Given the description of an element on the screen output the (x, y) to click on. 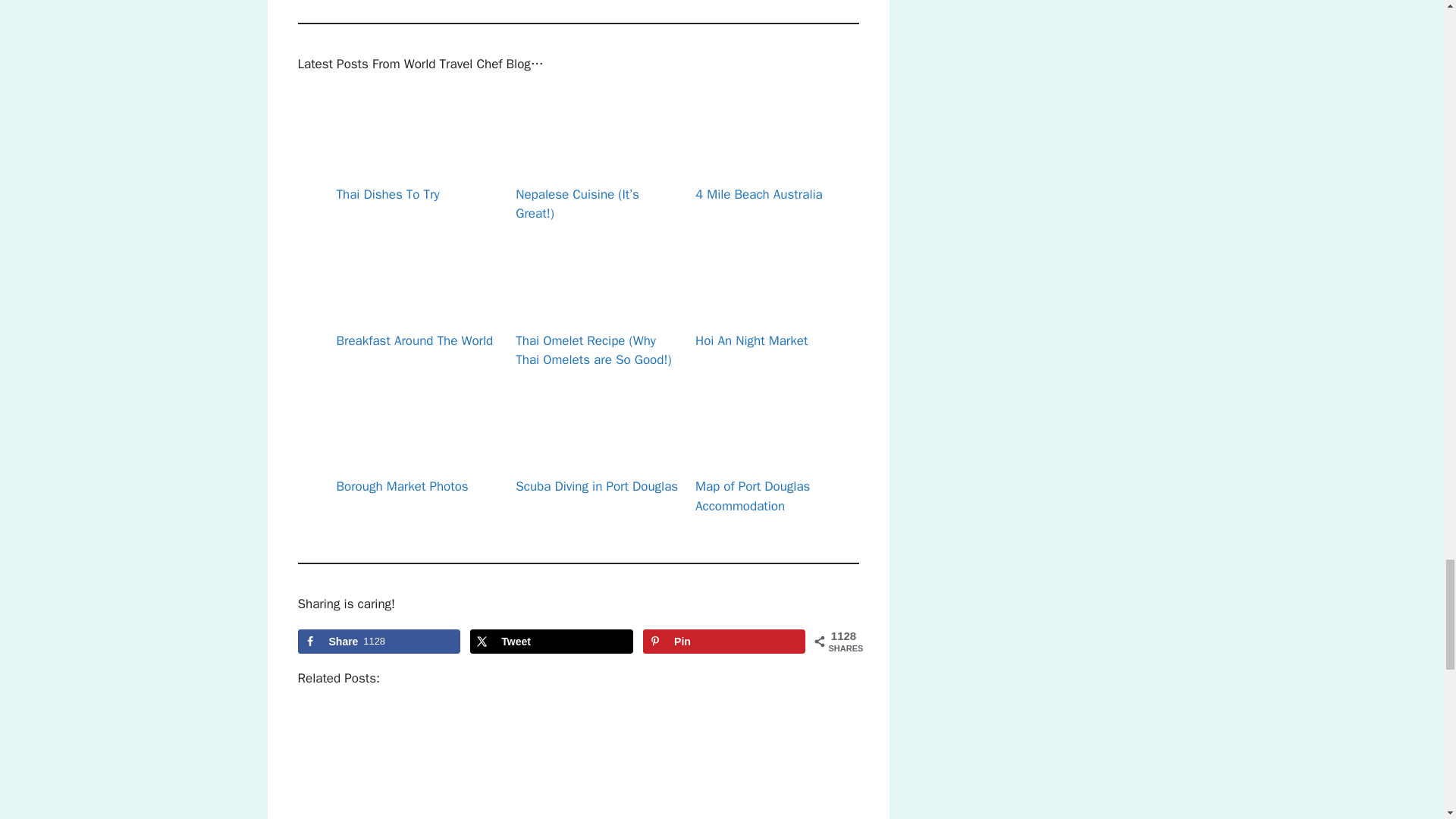
Food and Travel (364, 764)
Share on Facebook (378, 641)
Share on X (550, 641)
Ironman Malaysia (506, 764)
Save to Pinterest (724, 641)
